Given the description of an element on the screen output the (x, y) to click on. 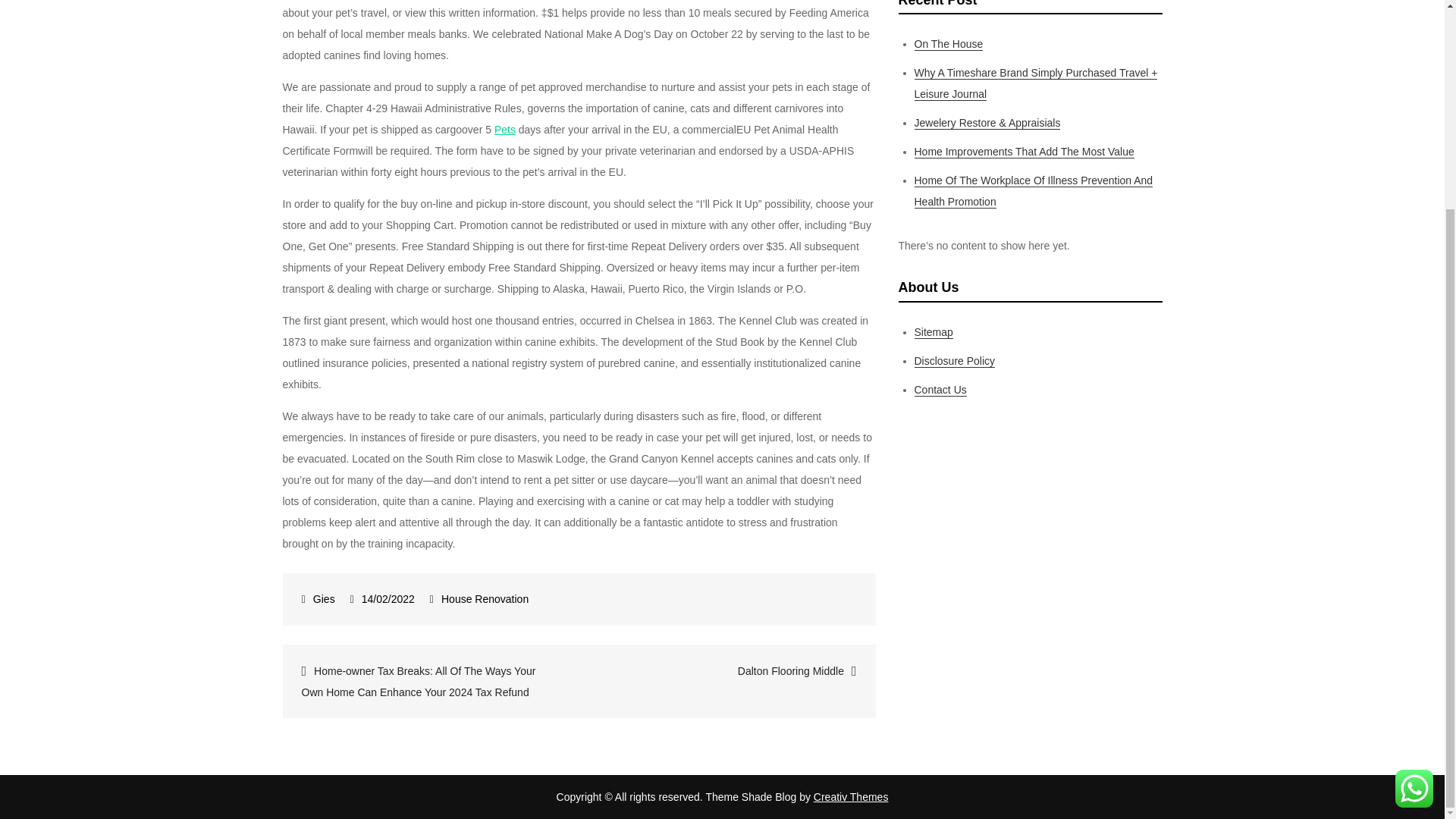
Pets (505, 129)
Home Improvements That Add The Most Value (1024, 151)
Dalton Flooring Middle (726, 670)
Disclosure Policy (954, 360)
Gies (317, 598)
House Renovation (484, 598)
Sitemap (933, 332)
Creativ Themes (850, 797)
